Given the description of an element on the screen output the (x, y) to click on. 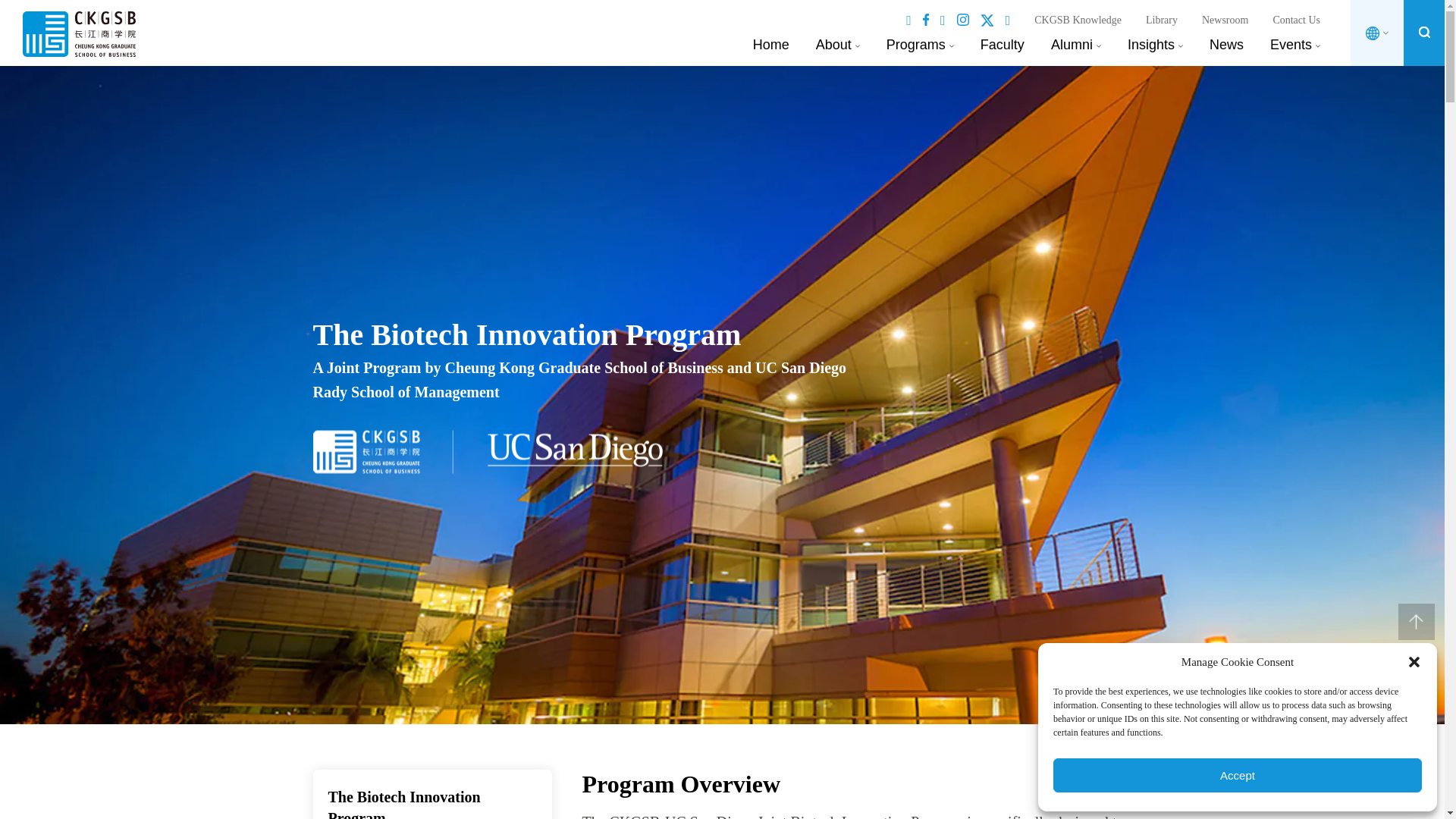
About (833, 44)
Library (1161, 19)
CKGSB Knowledge (1077, 19)
Home (770, 44)
Accept (1237, 775)
Newsroom (1224, 19)
Contact Us (1296, 19)
